Given the description of an element on the screen output the (x, y) to click on. 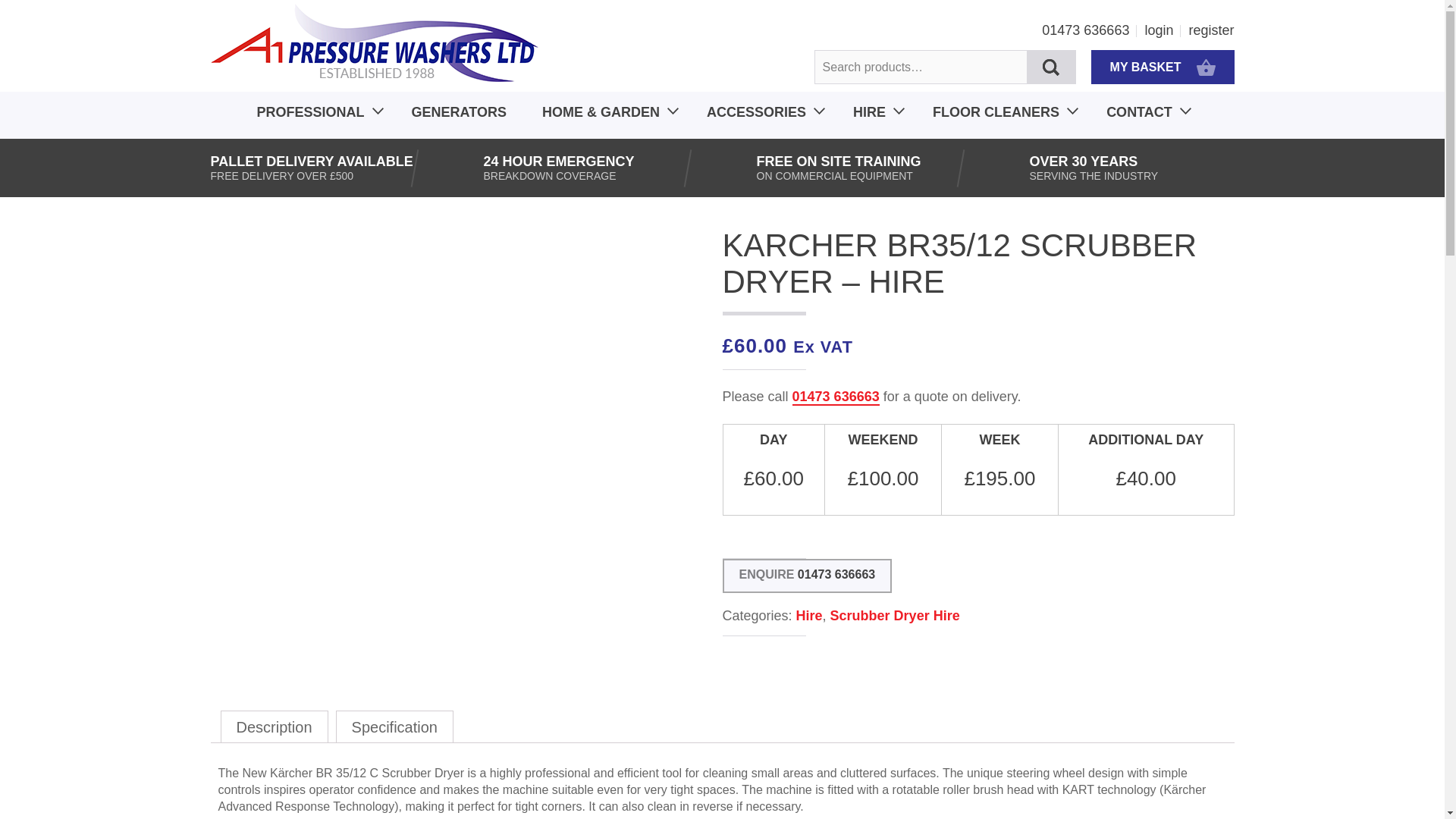
HIRE (869, 116)
01473 636663 (1089, 29)
Search for: (944, 66)
PROFESSIONAL (309, 116)
GENERATORS (458, 116)
login (1162, 29)
MY BASKET (1162, 66)
ACCESSORIES (756, 116)
register (1210, 29)
